Given the description of an element on the screen output the (x, y) to click on. 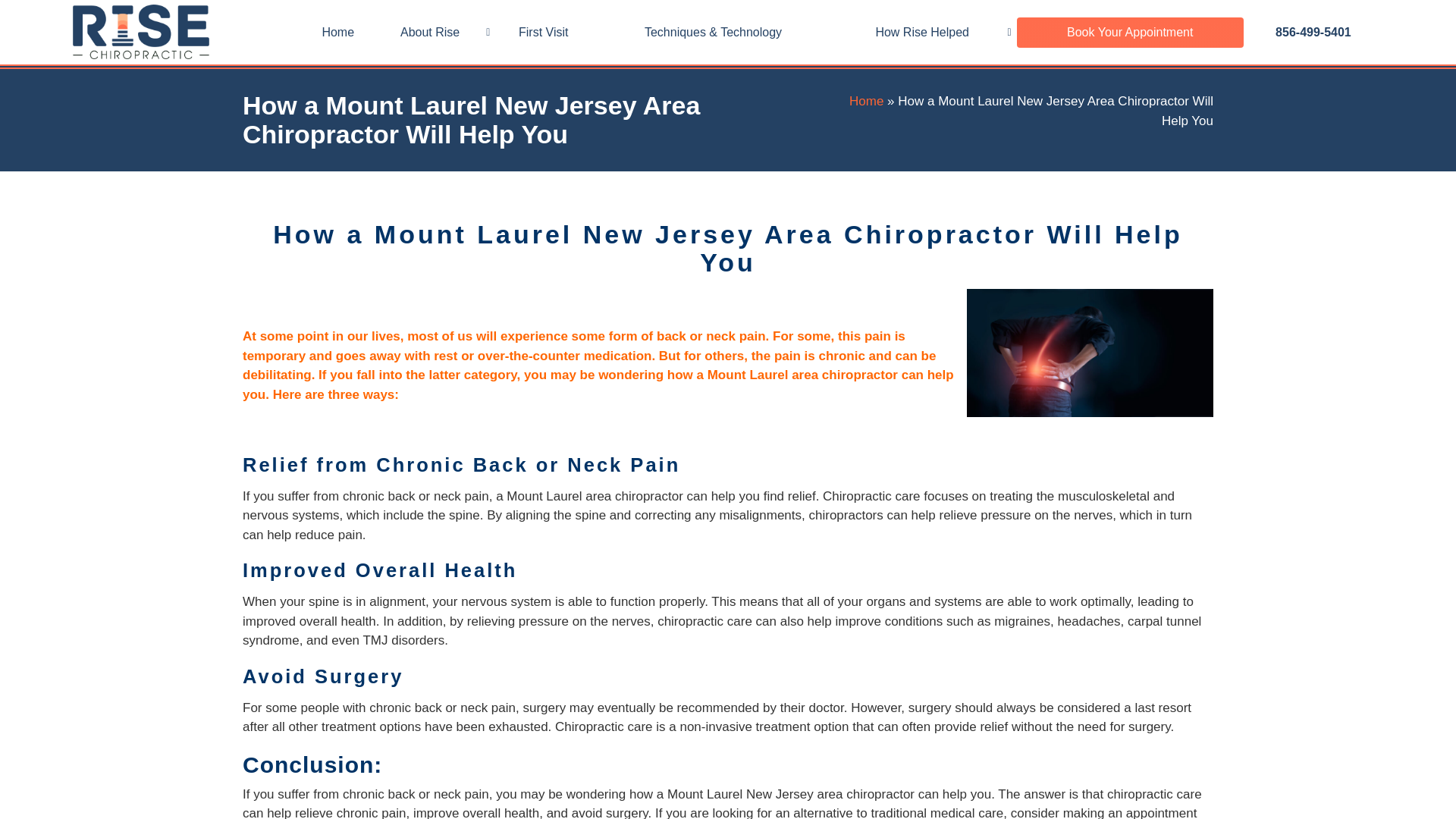
About Rise (433, 32)
856-499-5401 (1313, 32)
Home (337, 32)
How Rise Helped (925, 32)
Book Your Appointment (1129, 32)
First Visit (543, 32)
Home (865, 101)
